Given the description of an element on the screen output the (x, y) to click on. 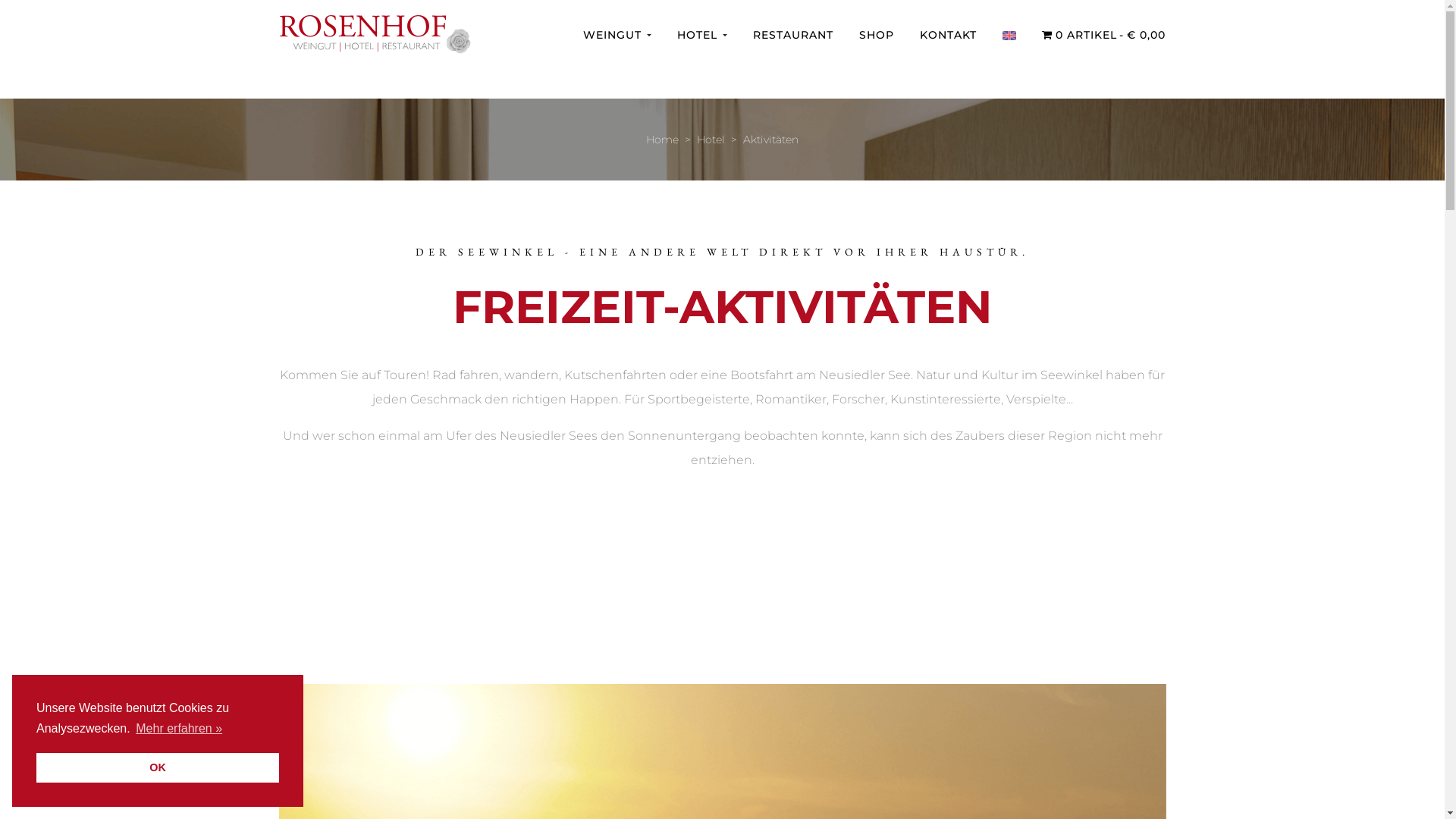
Home Element type: text (662, 139)
KONTAKT Element type: text (947, 34)
SHOP Element type: text (876, 34)
RESTAURANT Element type: text (793, 34)
WEINGUT Element type: text (617, 34)
HOTEL Element type: text (702, 34)
OK Element type: text (157, 767)
Hotel Element type: text (710, 139)
English Element type: hover (1009, 35)
